Given the description of an element on the screen output the (x, y) to click on. 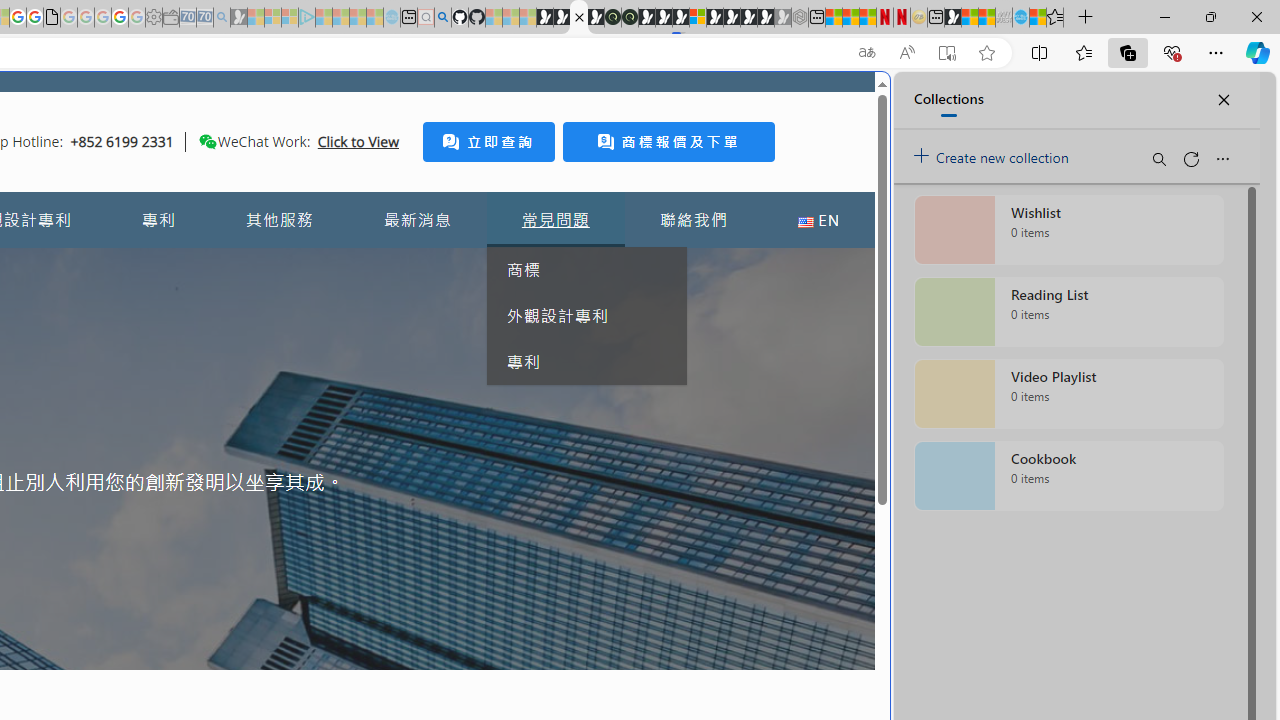
Frequently visited (418, 265)
Wallet - Sleeping (170, 17)
